Given the description of an element on the screen output the (x, y) to click on. 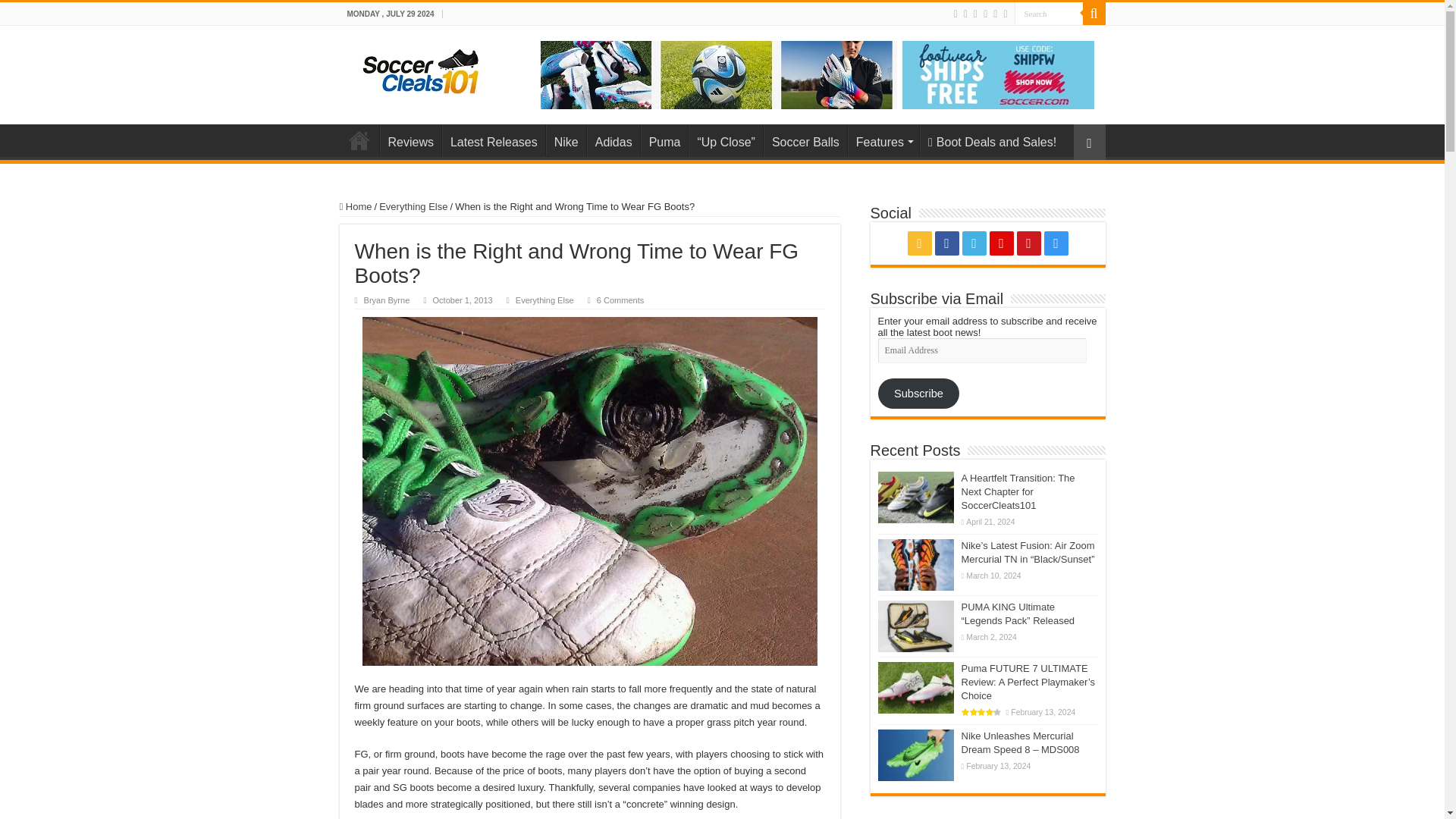
Search (1094, 13)
Search (1048, 13)
Search (1048, 13)
Home (358, 140)
Search (1048, 13)
Puma (664, 140)
Reviews (409, 140)
Adidas (613, 140)
Nike (566, 140)
Latest Releases (493, 140)
